Given the description of an element on the screen output the (x, y) to click on. 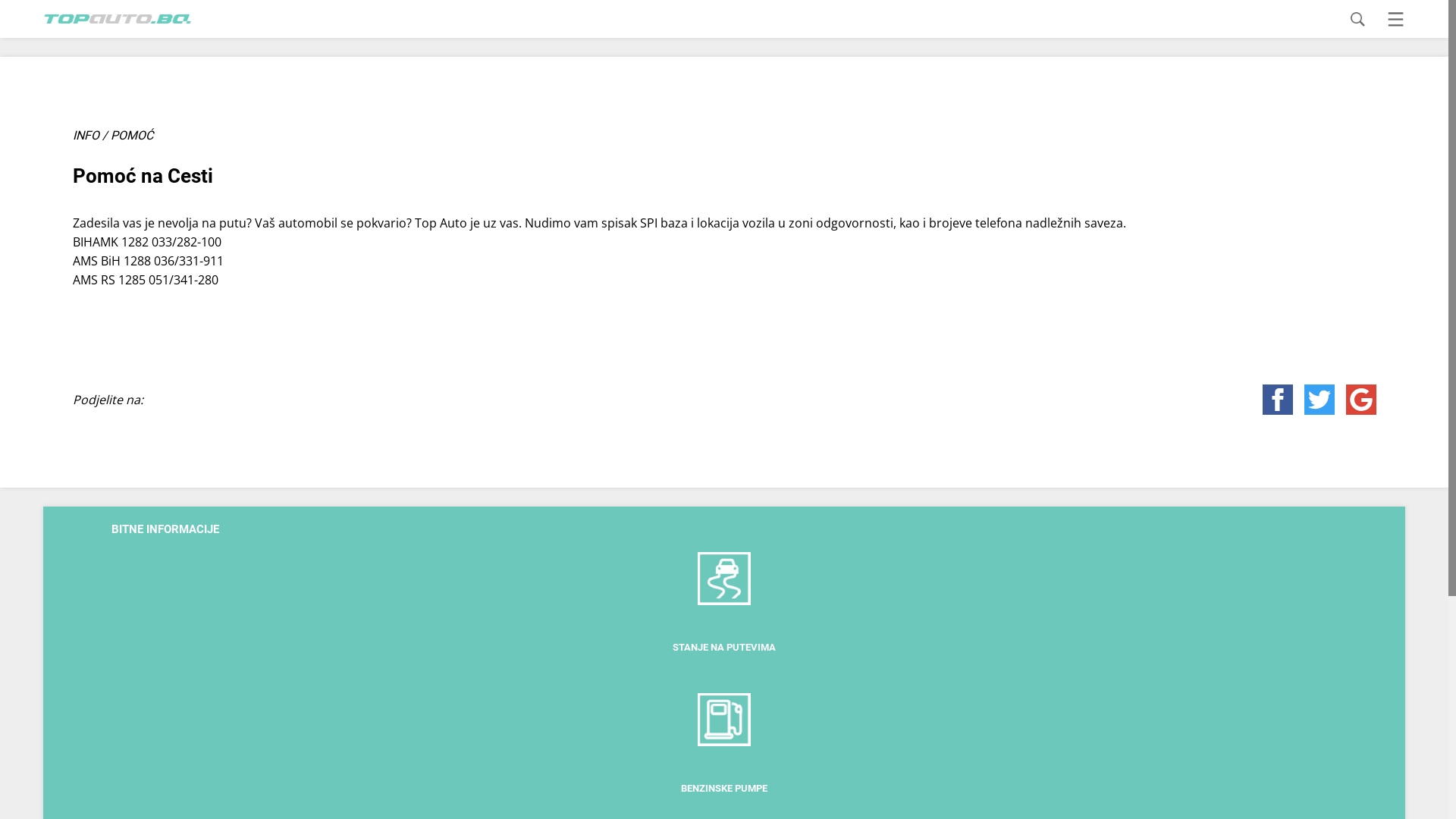
BITNE INFORMACIJE Element type: text (165, 528)
BENZINSKE PUMPE Element type: text (724, 774)
STANJE NA PUTEVIMA Element type: text (724, 633)
